Given the description of an element on the screen output the (x, y) to click on. 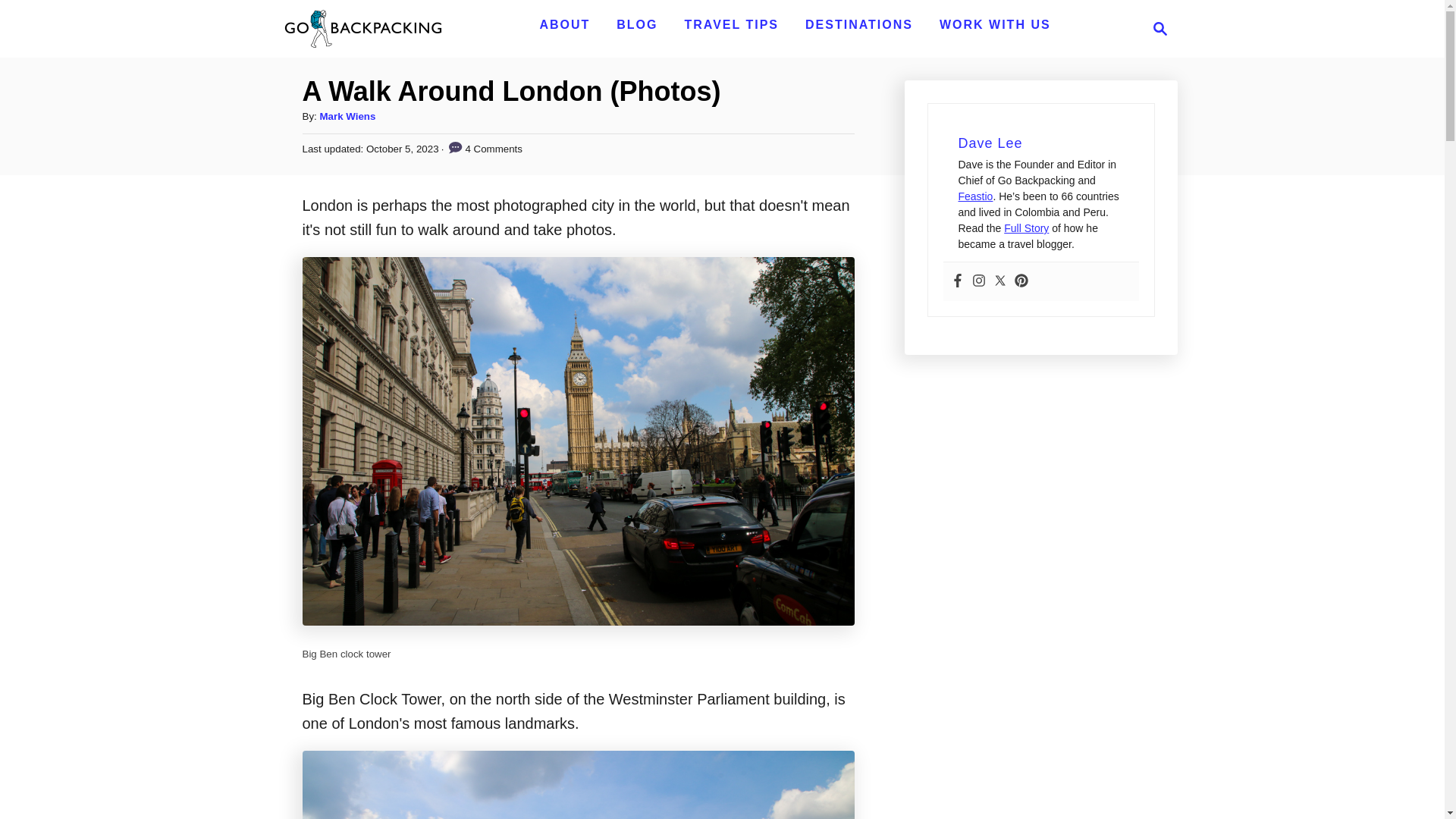
TRAVEL TIPS (731, 24)
Destinations (858, 24)
About (563, 24)
BLOG (636, 24)
DESTINATIONS (858, 24)
Blog (636, 24)
Magnifying Glass (1160, 28)
ABOUT (563, 24)
Travel Tips (731, 24)
